Given the description of an element on the screen output the (x, y) to click on. 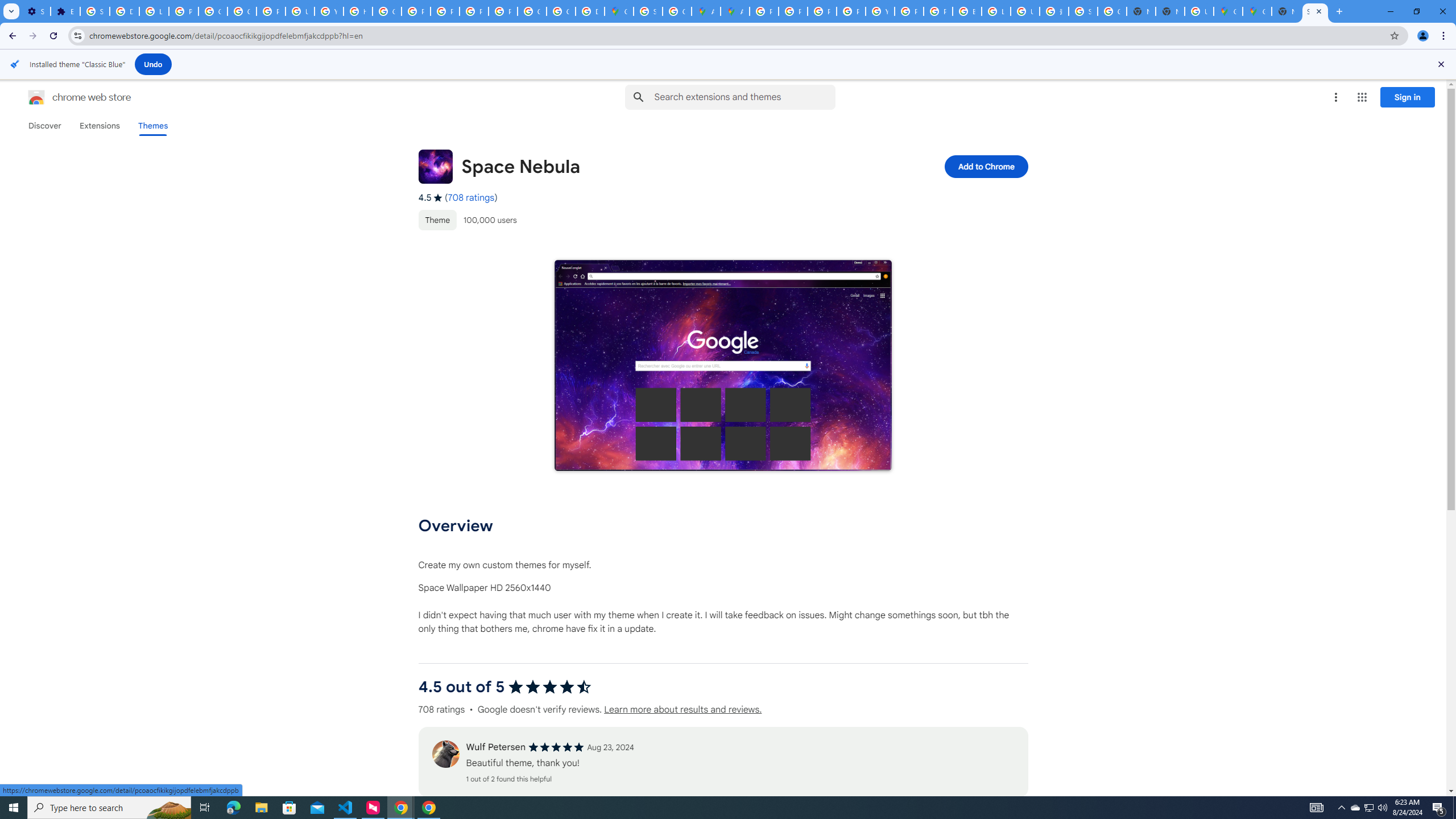
Discover (43, 125)
Review's profile picture (445, 754)
Item media 1 screenshot (723, 366)
Space Nebula - Chrome Web Store (1315, 11)
https://scholar.google.com/ (357, 11)
Sign in - Google Accounts (648, 11)
Themes (152, 125)
4.5 out of 5 stars (549, 686)
Extensions (65, 11)
